Given the description of an element on the screen output the (x, y) to click on. 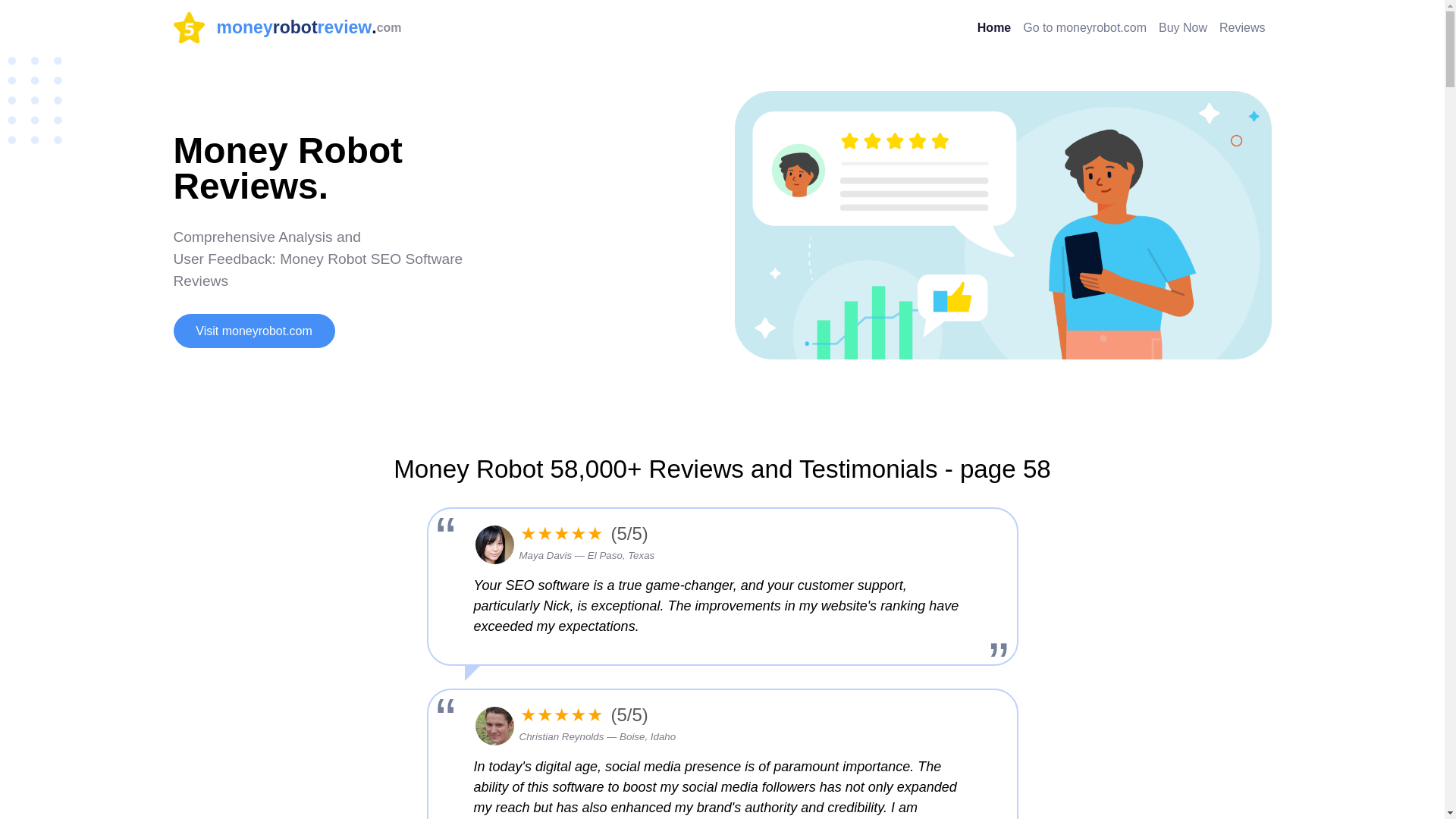
Home (993, 27)
Go to moneyrobot.com (1084, 27)
Buy Now (1182, 27)
Reviews (287, 27)
Visit moneyrobot.com (1241, 27)
